Given the description of an element on the screen output the (x, y) to click on. 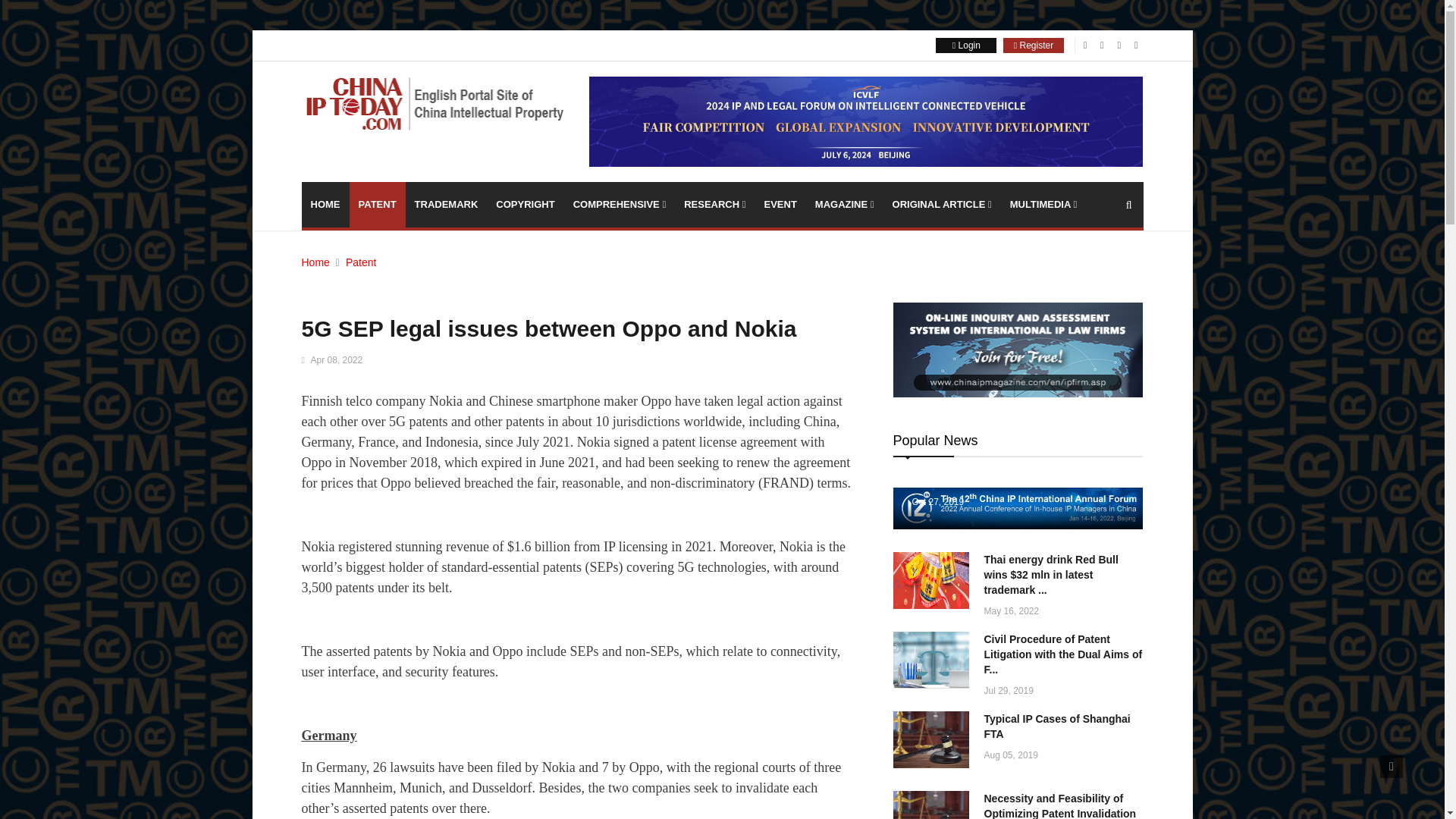
YouTube (1136, 44)
COMPREHENSIVE (619, 204)
PATENT (376, 204)
Login (965, 45)
Linkedin (1118, 44)
HOME (325, 204)
COPYRIGHT (524, 204)
Twitter (1101, 44)
Facebook (1085, 44)
ORIGINAL ARTICLE (942, 204)
MULTIMEDIA (1043, 204)
Register (1032, 45)
RESEARCH (714, 204)
EVENT (779, 204)
MAGAZINE (844, 204)
